Given the description of an element on the screen output the (x, y) to click on. 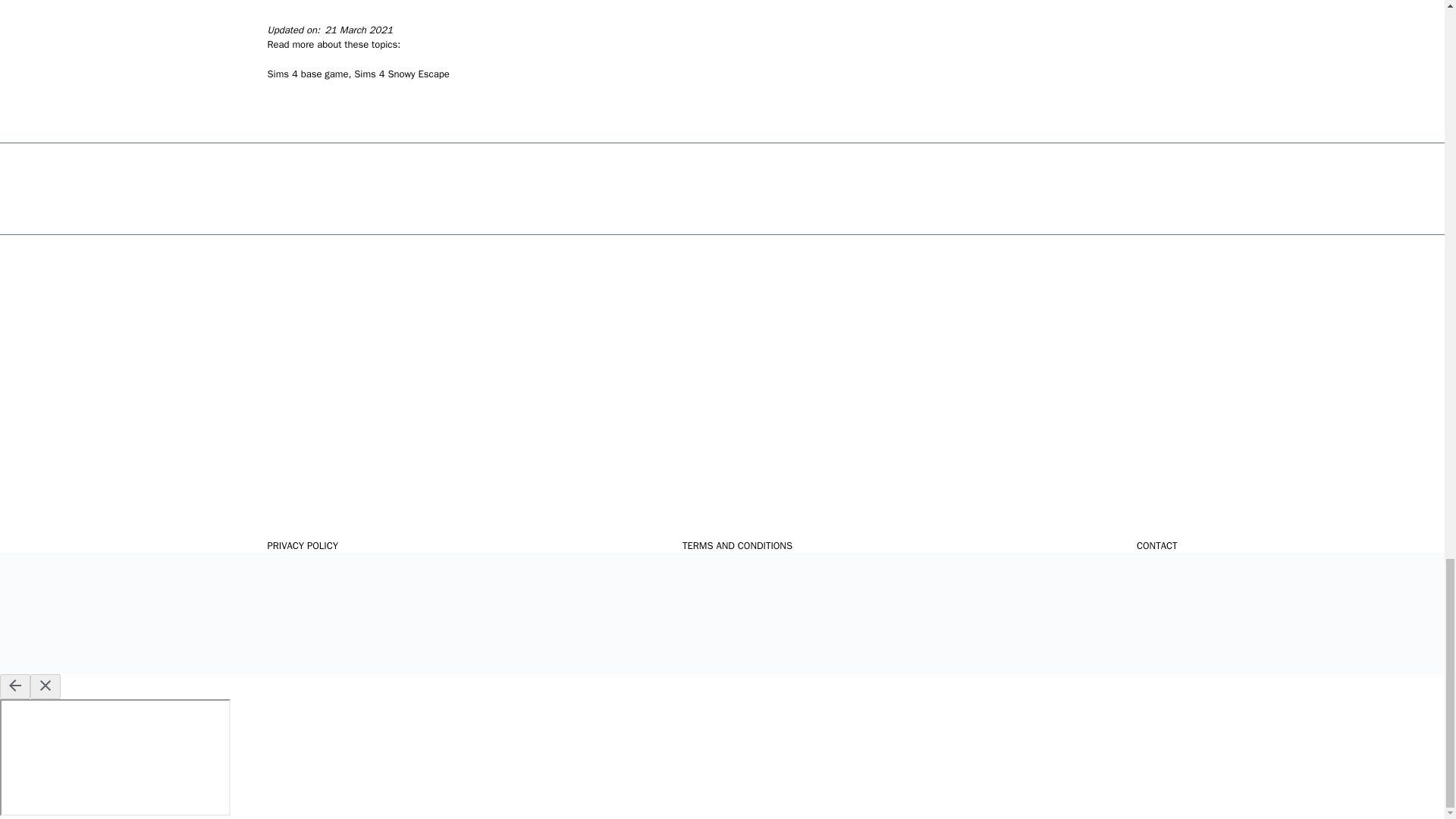
Sims 4 Snowy Escape (400, 73)
Sims 4 base game (306, 73)
PRIVACY POLICY (301, 545)
TERMS AND CONDITIONS (737, 545)
CONTACT (1157, 545)
